Given the description of an element on the screen output the (x, y) to click on. 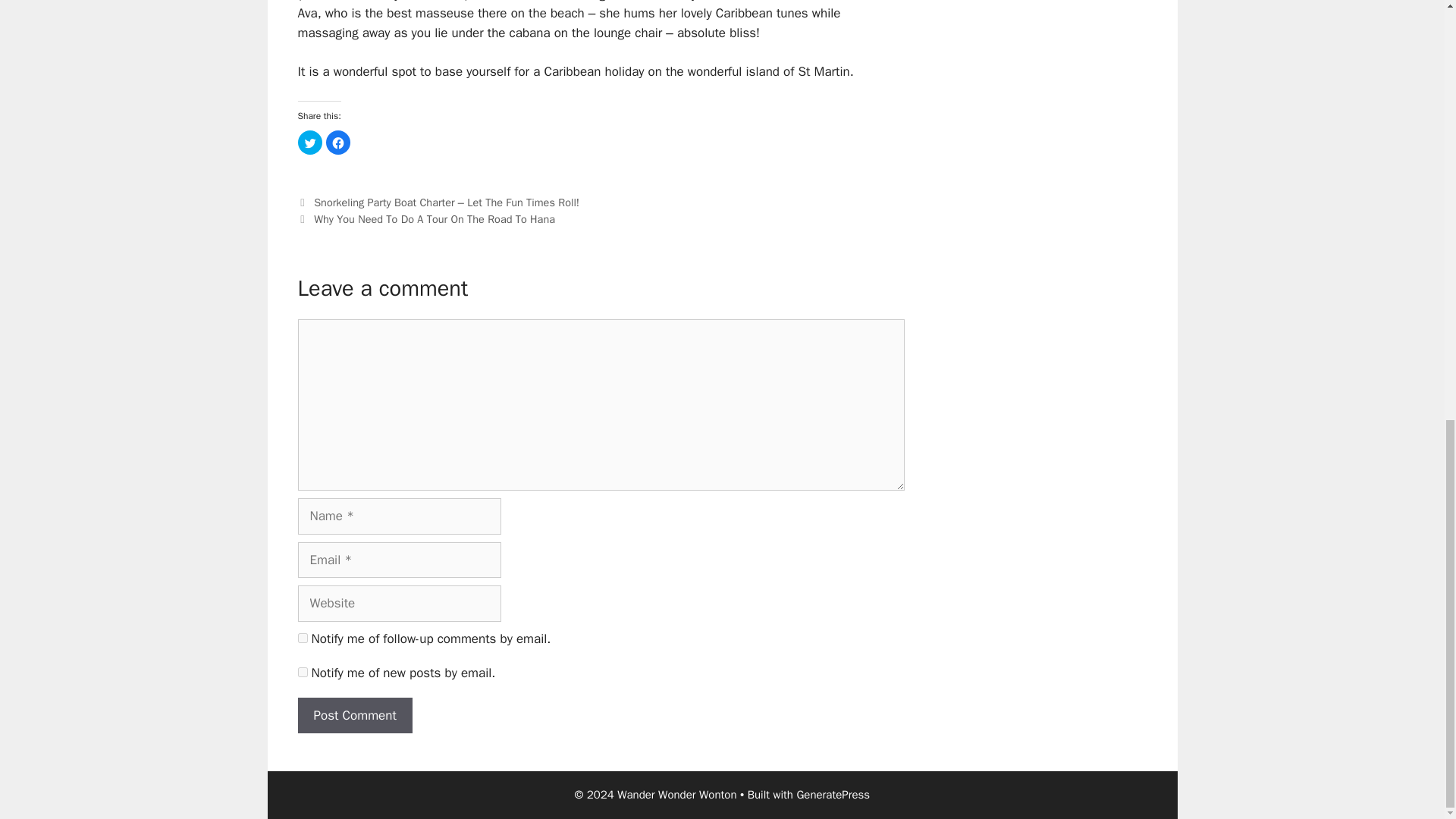
subscribe (302, 672)
Why You Need To Do A Tour On The Road To Hana (434, 219)
subscribe (302, 637)
GeneratePress (832, 794)
Post Comment (354, 715)
Post Comment (354, 715)
